Given the description of an element on the screen output the (x, y) to click on. 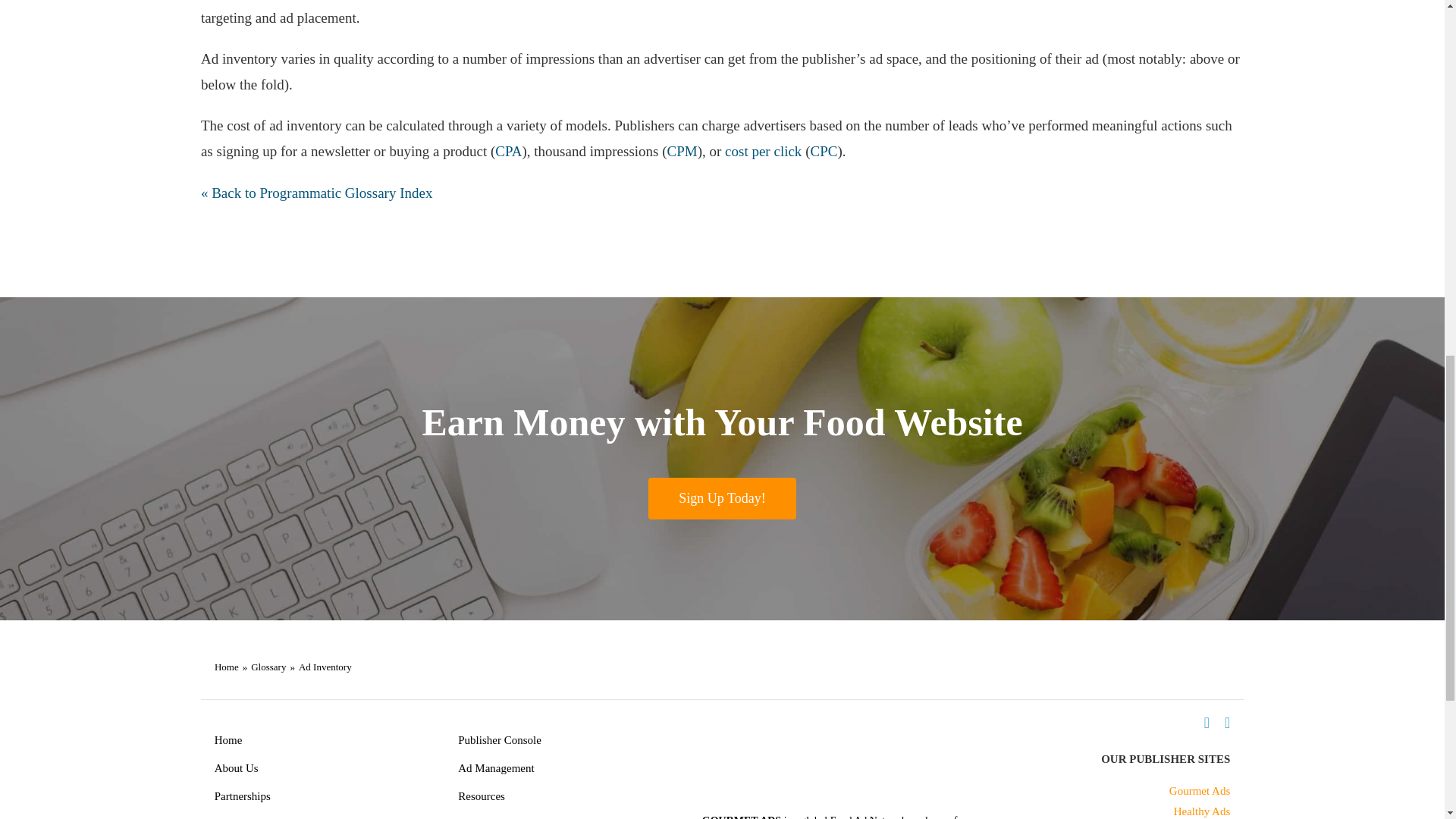
CPA (508, 150)
CPC (823, 150)
cost per click (763, 150)
CPM (681, 150)
